Given the description of an element on the screen output the (x, y) to click on. 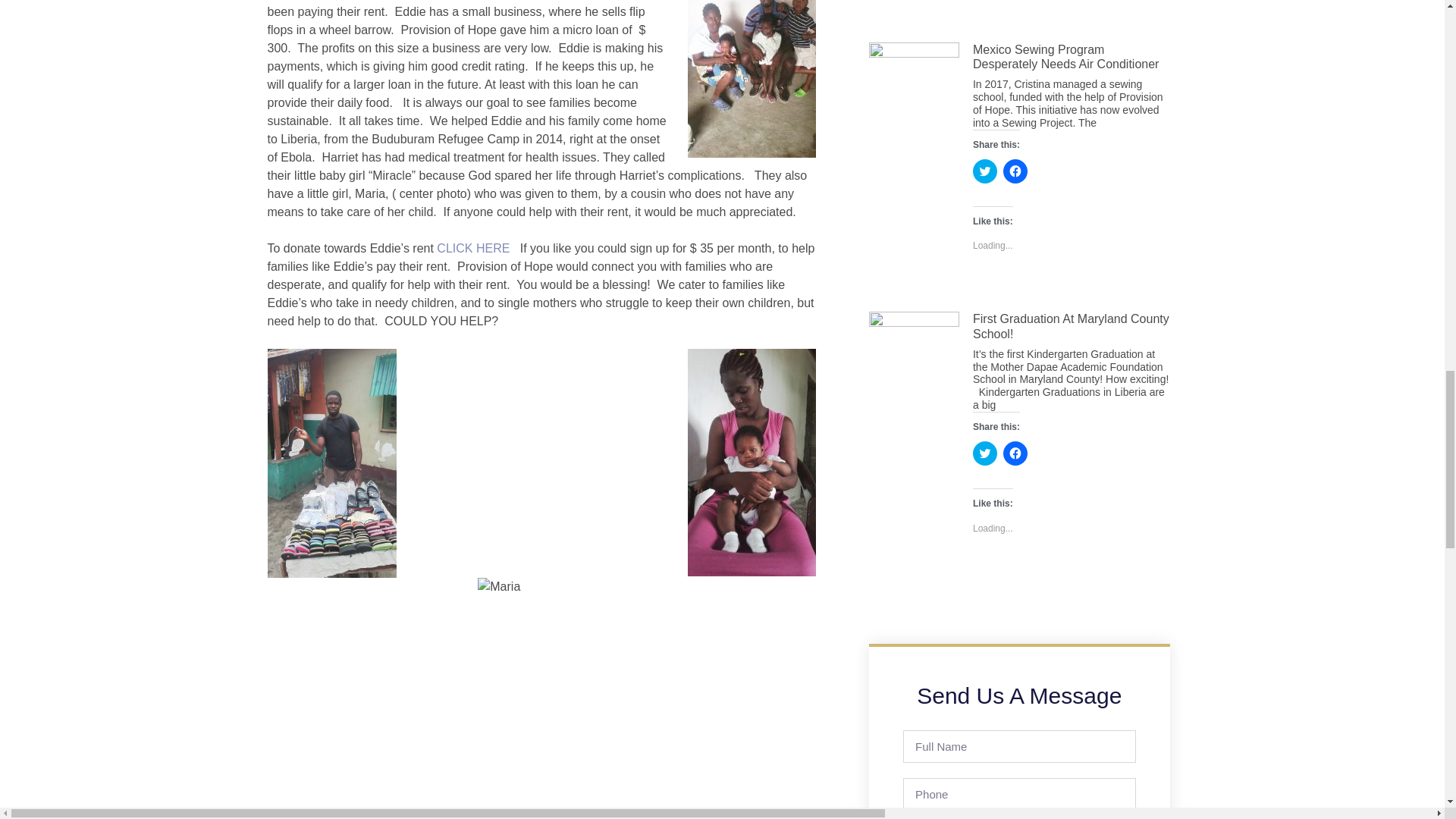
Click to share on Facebook (1015, 170)
Click to share on Twitter (984, 170)
Click to share on Facebook (1015, 453)
Click to share on Twitter (984, 453)
